Given the description of an element on the screen output the (x, y) to click on. 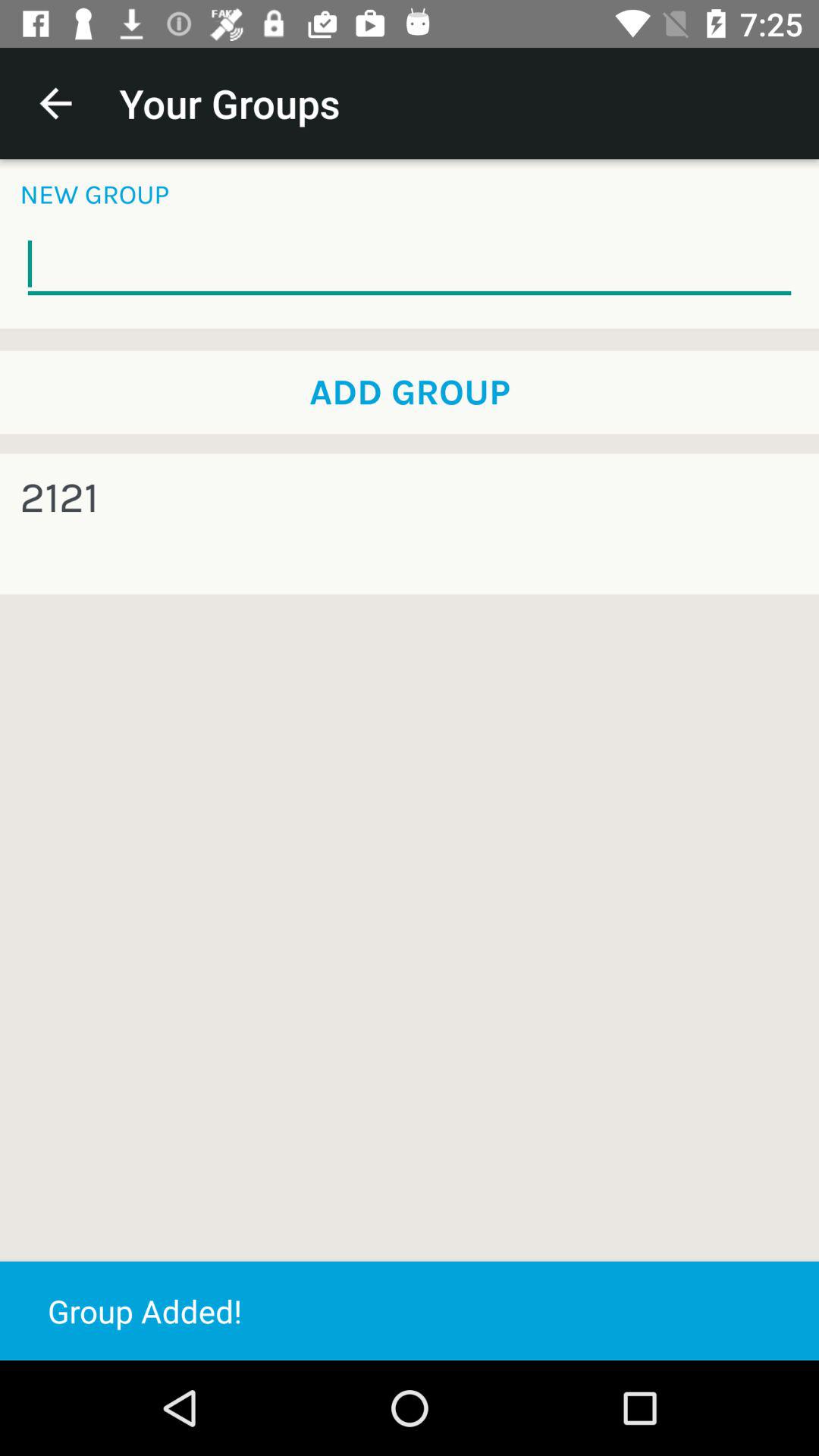
launch icon above 2121 icon (409, 391)
